Given the description of an element on the screen output the (x, y) to click on. 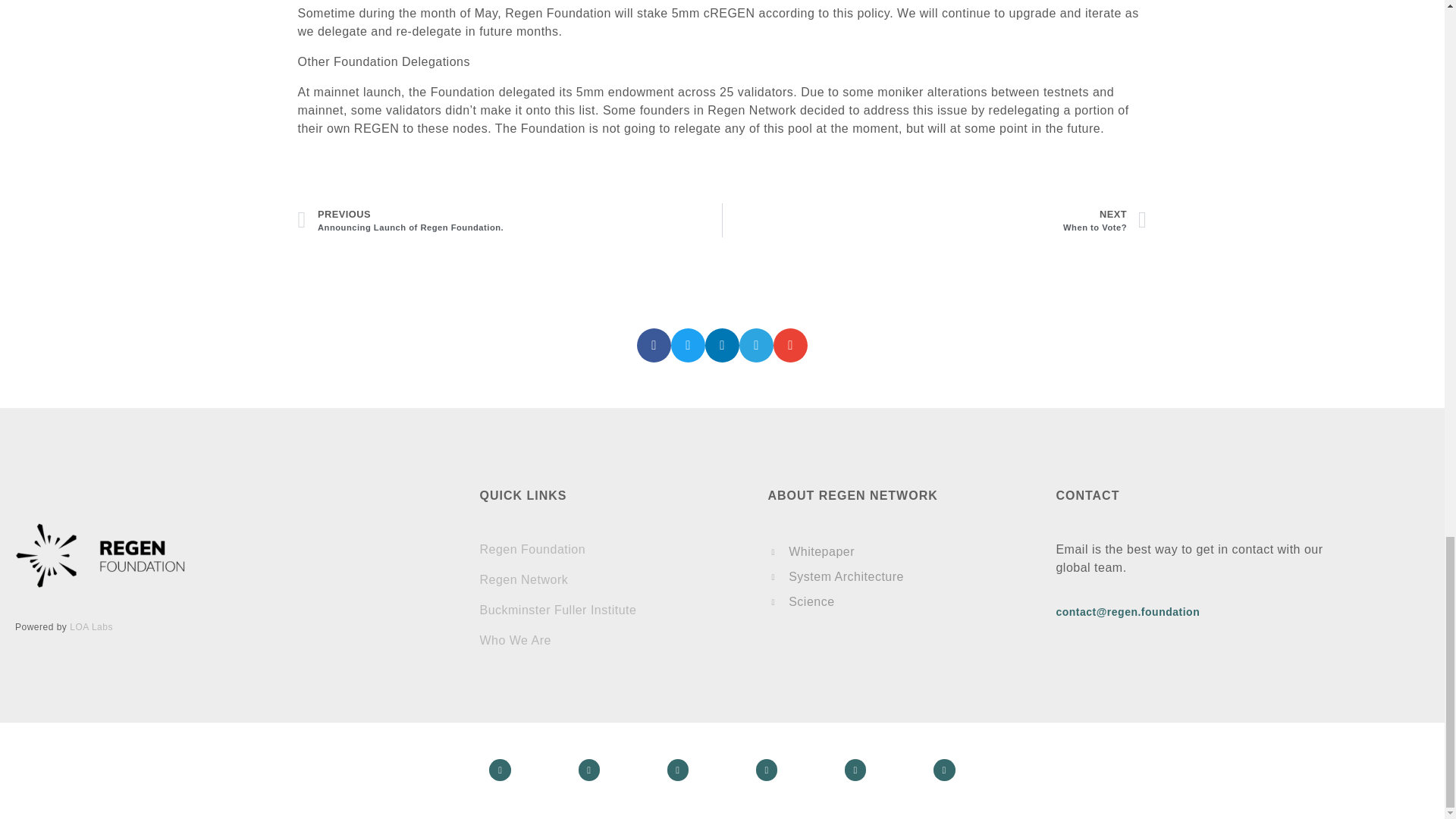
Regen Network (523, 579)
Science (900, 602)
Whitepaper (509, 220)
System Architecture (900, 552)
Regen Foundation (900, 577)
LOA Labs (532, 549)
Who We Are (91, 626)
Buckminster Fuller Institute (515, 640)
